Given the description of an element on the screen output the (x, y) to click on. 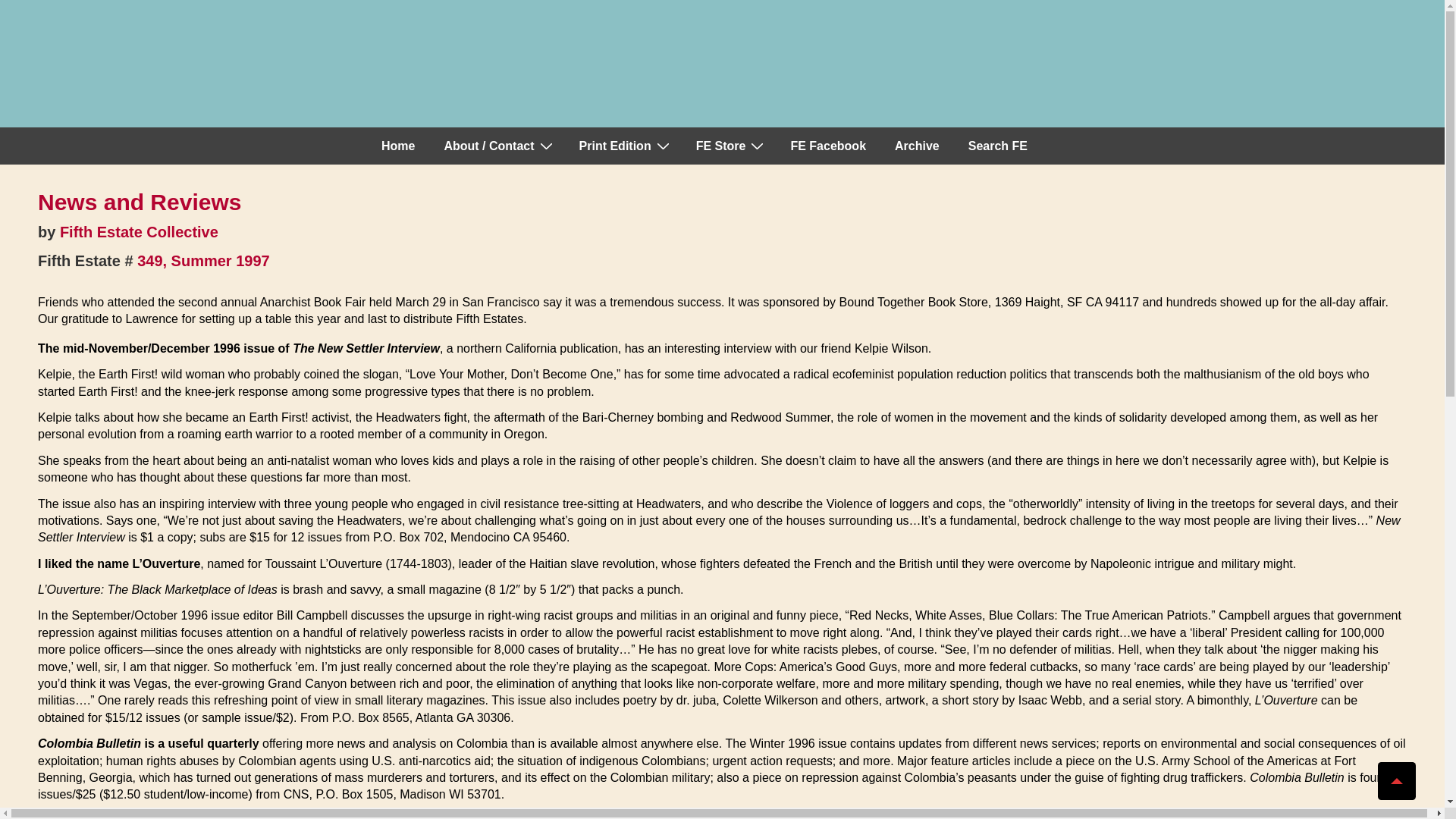
Print Edition (623, 145)
Scroll to Top (1396, 781)
Search FE (998, 145)
349, Summer 1997 (202, 260)
Home (398, 145)
Archive (916, 145)
Recordings (729, 145)
FE Facebook (827, 145)
Fifth Estate Collective (138, 231)
FE Store (729, 145)
Top (1396, 781)
